Given the description of an element on the screen output the (x, y) to click on. 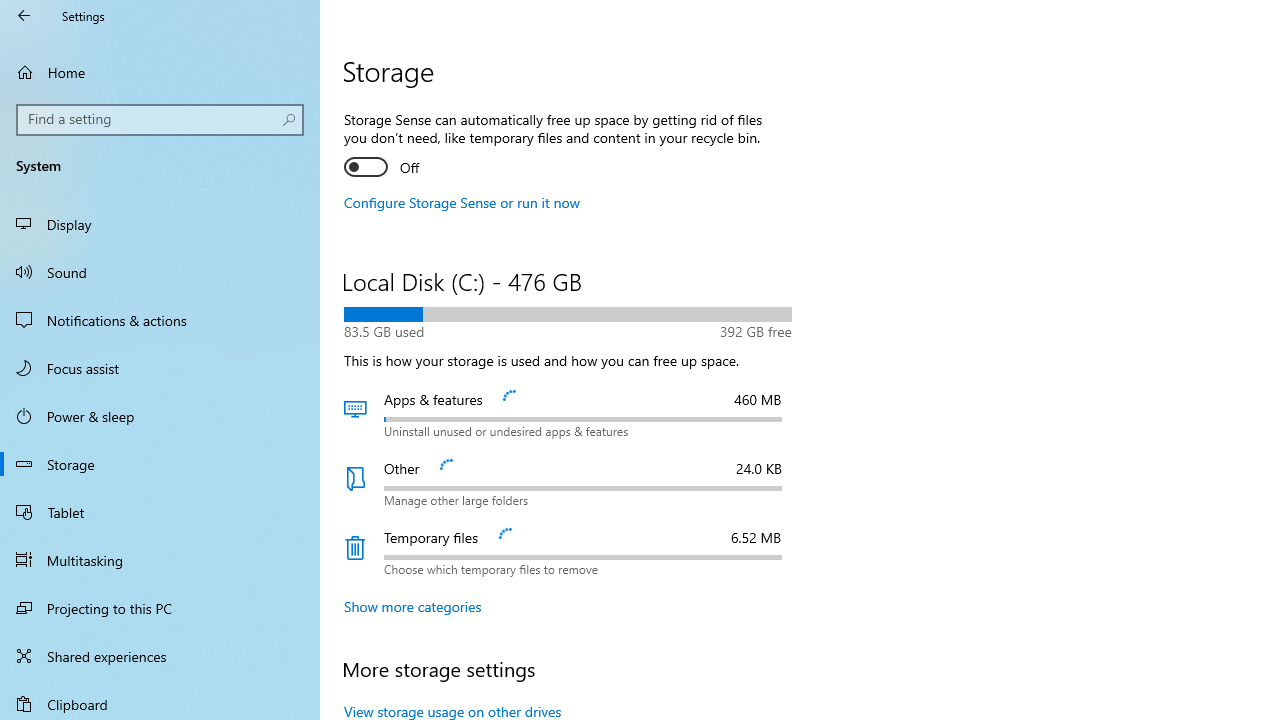
Notifications & actions (160, 319)
Power & sleep (160, 415)
Other (568, 483)
Back (24, 15)
Multitasking (160, 559)
Temporary files (568, 551)
Focus assist (160, 367)
Other (568, 483)
Display (160, 223)
Shared experiences (160, 655)
Apps & features (568, 414)
Temporary files (568, 551)
Search box, Find a setting (160, 119)
Show more categories (413, 606)
Sound (160, 271)
